Given the description of an element on the screen output the (x, y) to click on. 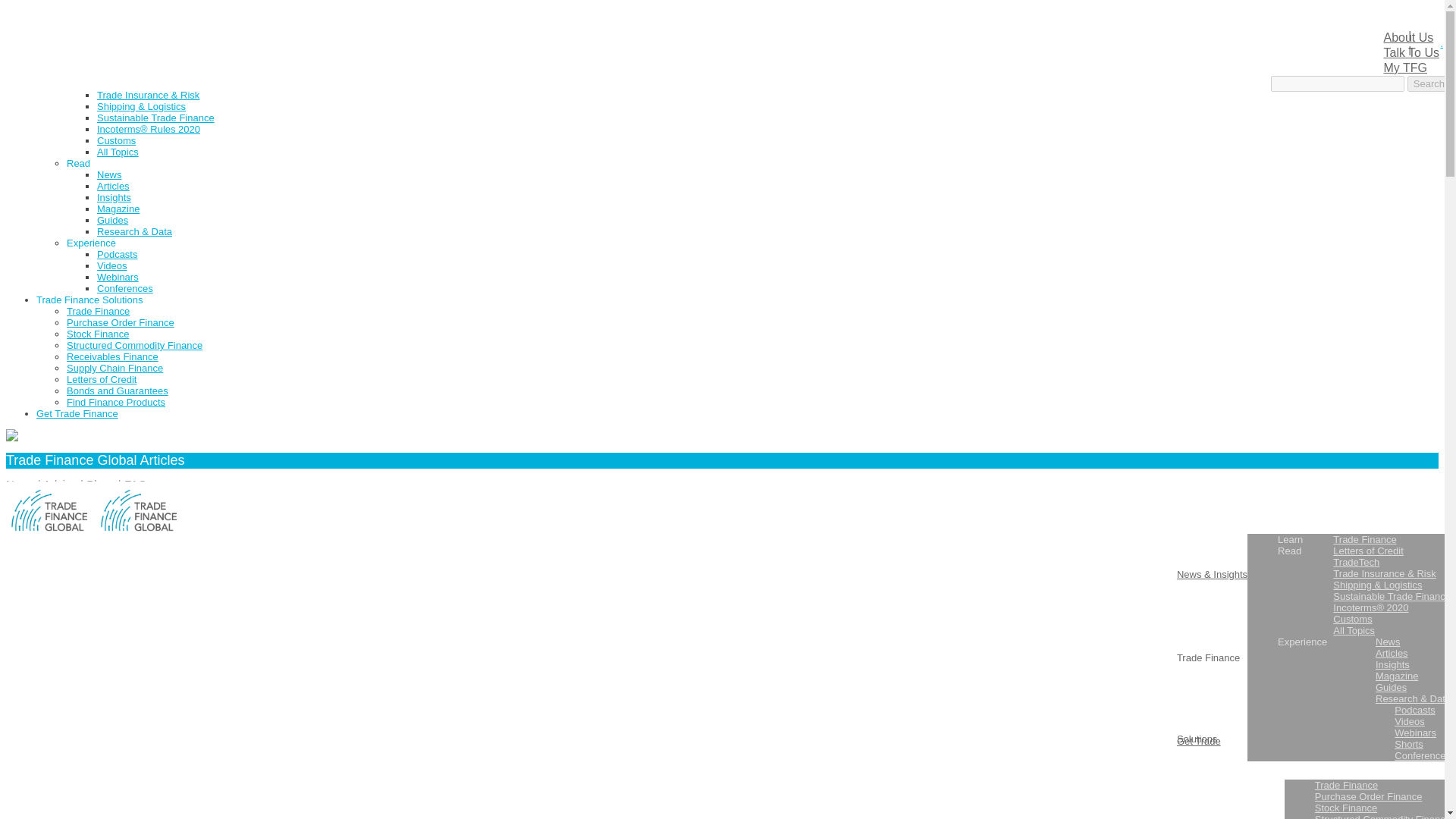
All Topics (117, 152)
Home (49, 15)
Learn (78, 49)
View all posts by Steven Beck (98, 588)
News (109, 174)
Sustainable Trade Finance (155, 117)
View all posts by Flora Tan (91, 776)
Customs (116, 140)
Trade Finance (128, 60)
TradeTech (119, 83)
Letters of Credit (132, 71)
Sibos 2023 (60, 26)
View all posts by Poppie Simmonds (111, 682)
